Given the description of an element on the screen output the (x, y) to click on. 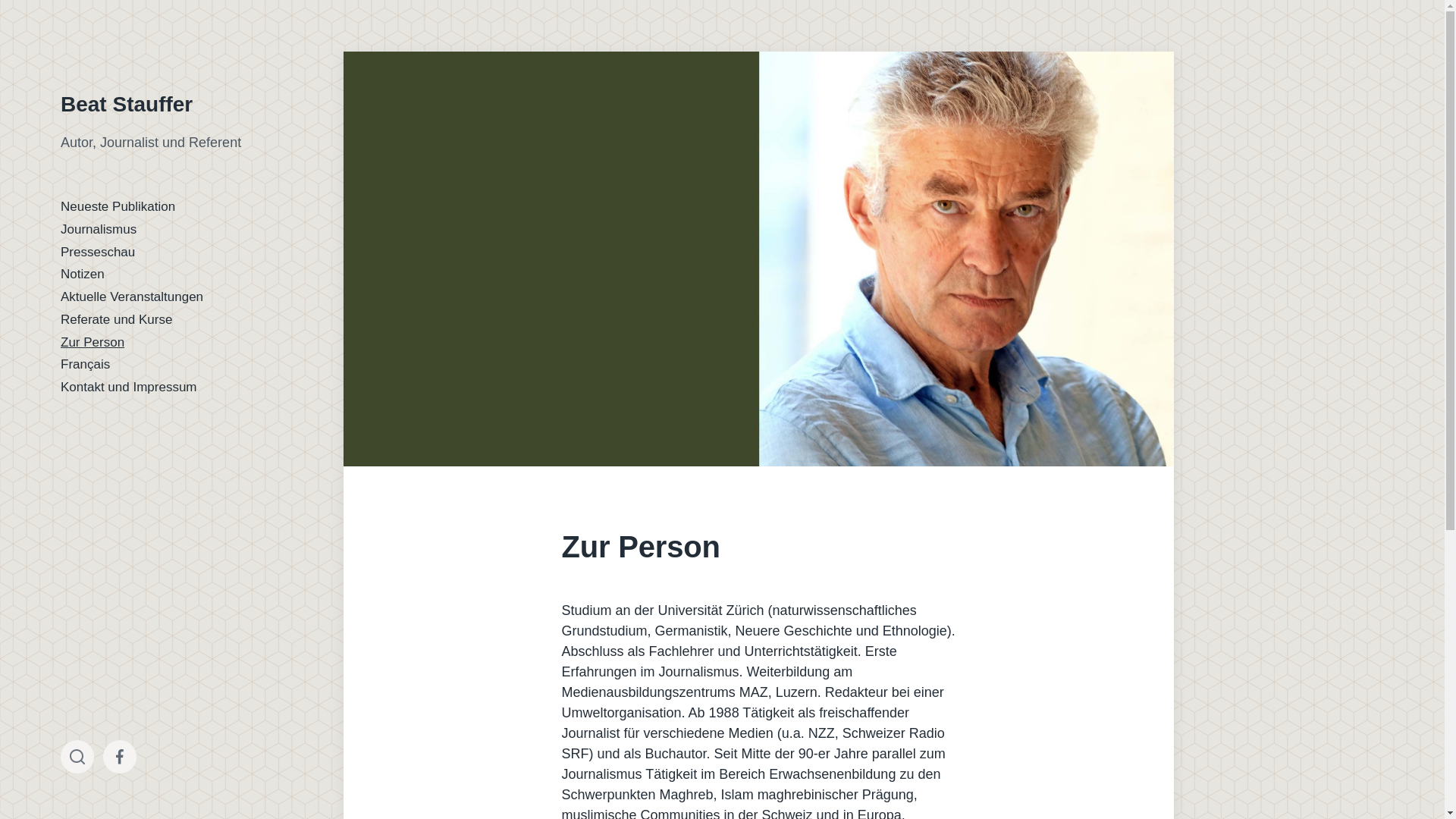
Zur Person Element type: text (92, 342)
Beat Stauffer Element type: text (126, 104)
Neueste Publikation Element type: text (117, 206)
Journalismus Element type: text (98, 229)
Kontakt und Impressum Element type: text (128, 386)
Presseschau Element type: text (97, 251)
Menu Item Element type: text (119, 756)
Notizen Element type: text (82, 273)
Referate und Kurse Element type: text (116, 319)
Aktuelle Veranstaltungen Element type: text (131, 296)
Toggle the search field Element type: text (77, 756)
